Given the description of an element on the screen output the (x, y) to click on. 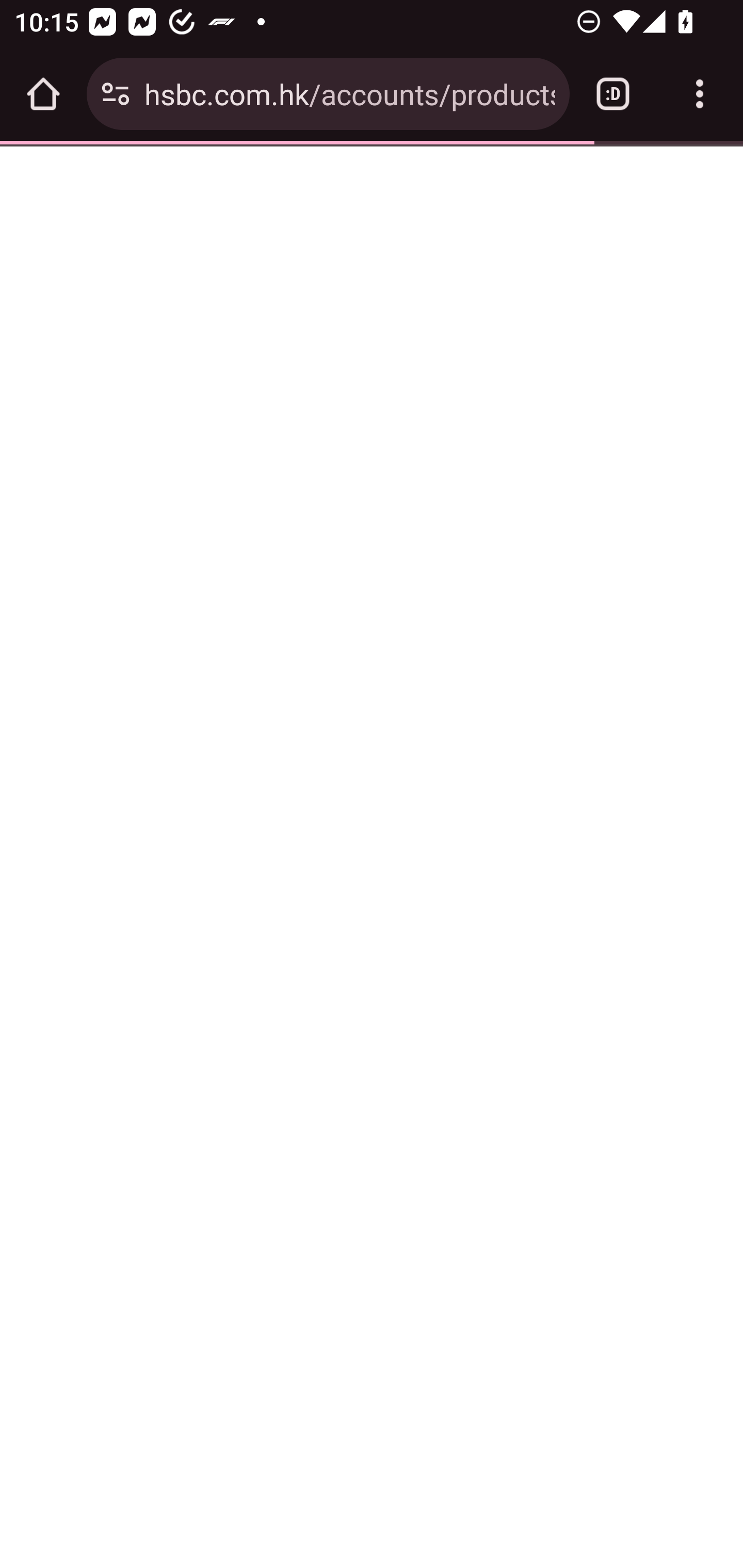
Open the home page (43, 93)
Connection is secure (115, 93)
Switch or close tabs (612, 93)
Customize and control Google Chrome (699, 93)
